Given the description of an element on the screen output the (x, y) to click on. 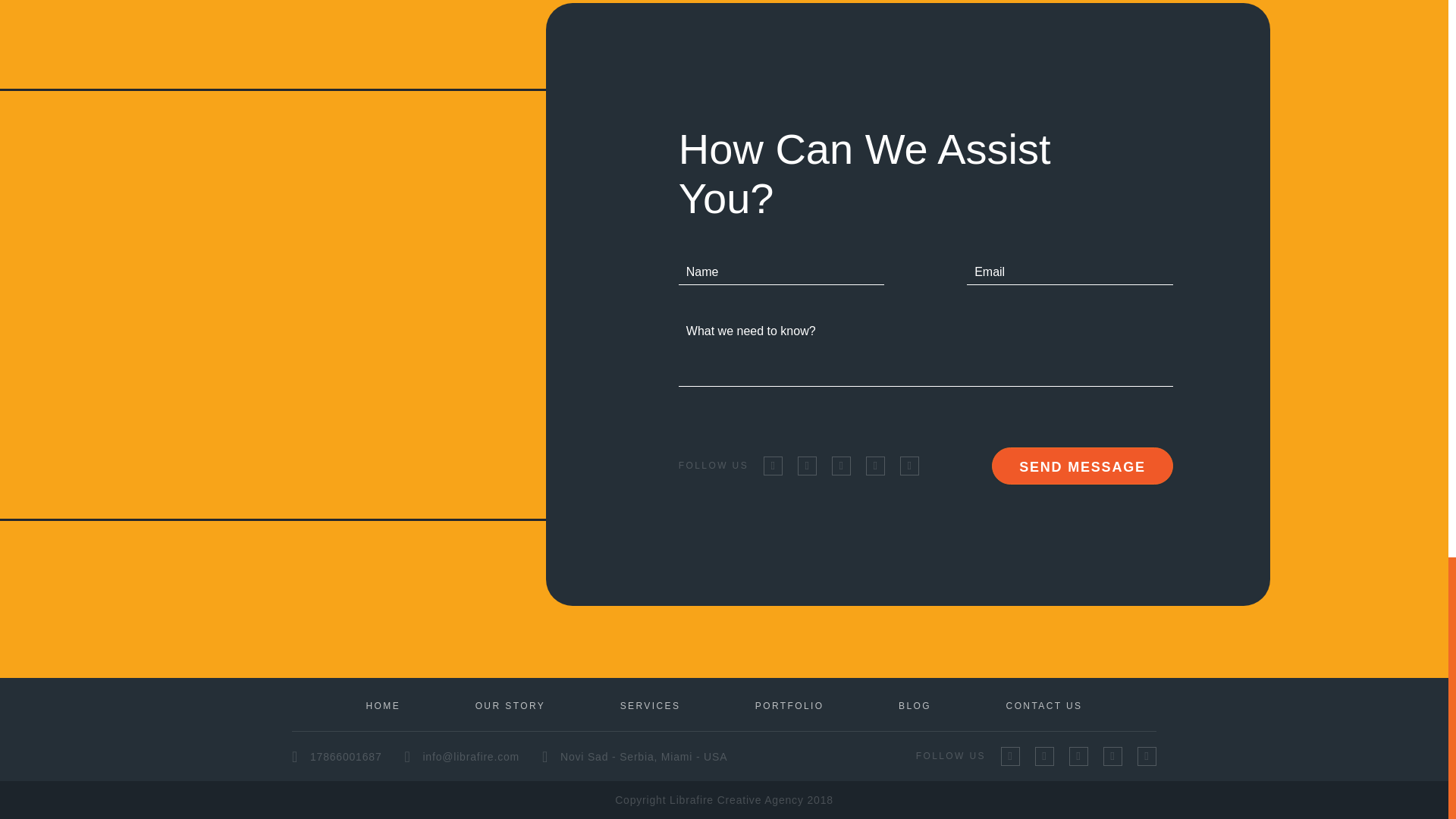
SERVICES (650, 706)
OUR STORY (511, 706)
SEND MESSAGE (1082, 465)
HOME (382, 706)
